Given the description of an element on the screen output the (x, y) to click on. 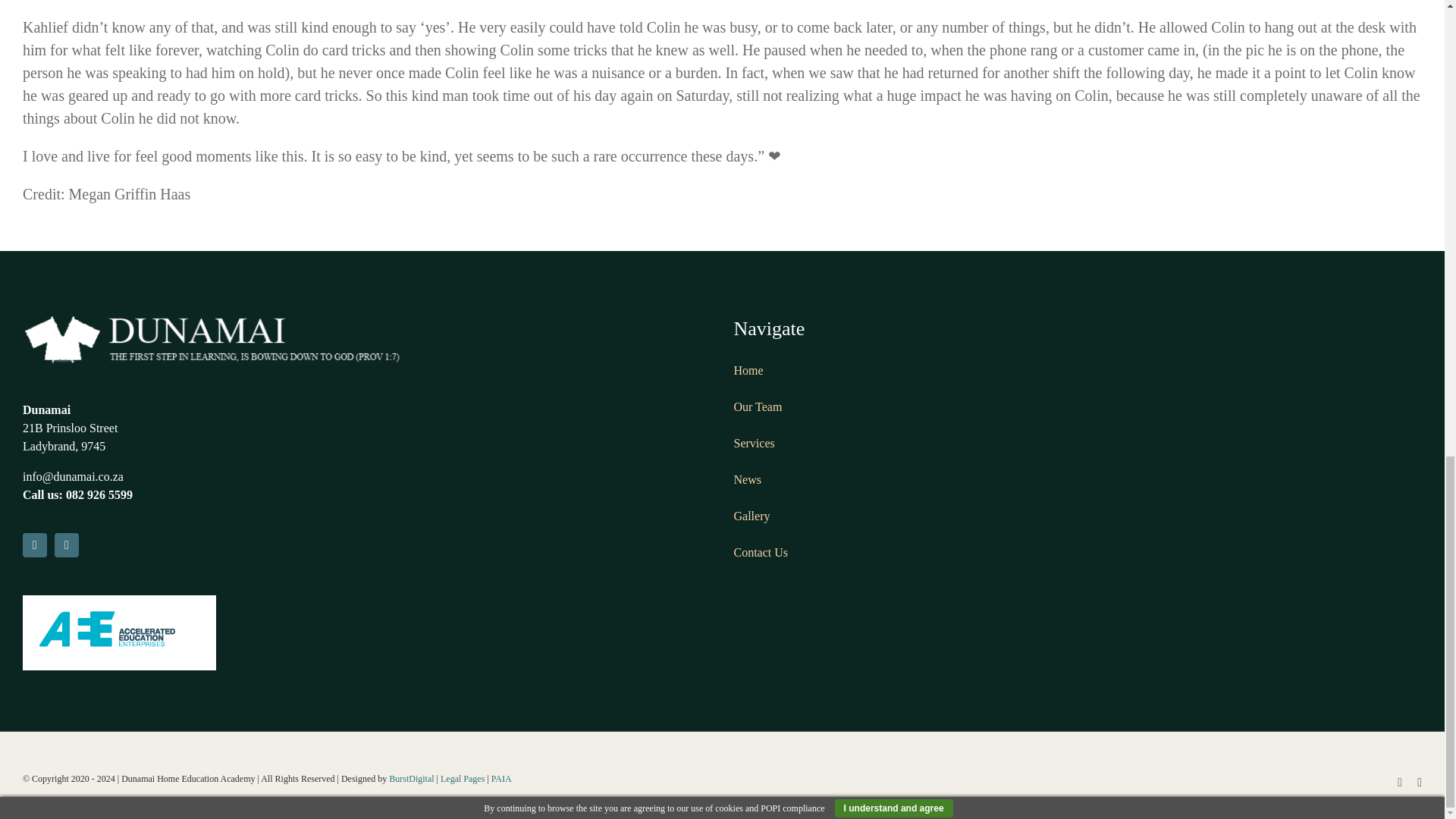
Legal Pages (462, 778)
BurstDigital (410, 778)
News (747, 479)
Home (747, 369)
WhiteLogo (212, 338)
Gallery (751, 515)
Facebook (34, 545)
Services (753, 442)
Email (66, 545)
PAIA (502, 778)
